Given the description of an element on the screen output the (x, y) to click on. 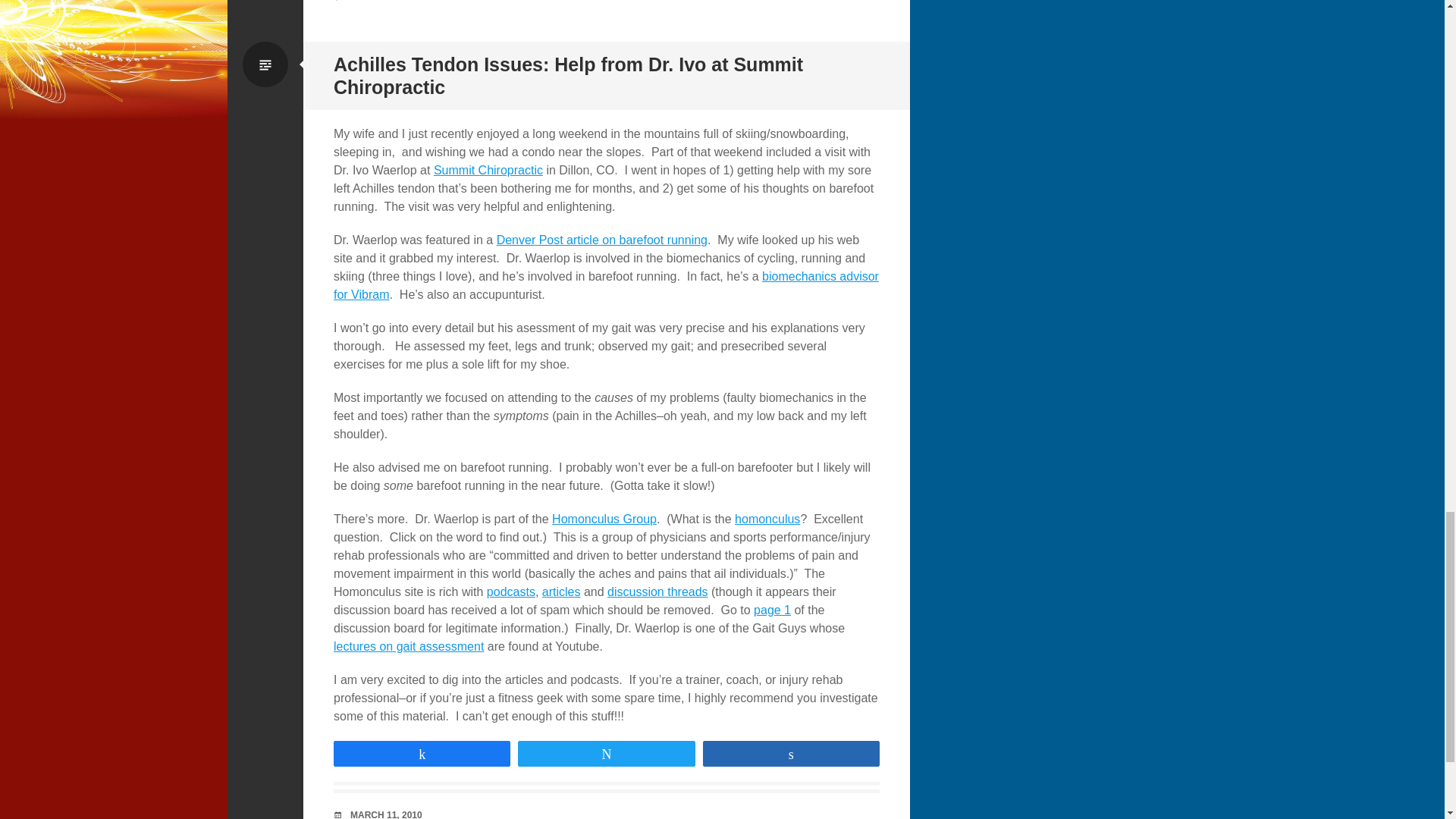
4:41 pm (386, 814)
